Given the description of an element on the screen output the (x, y) to click on. 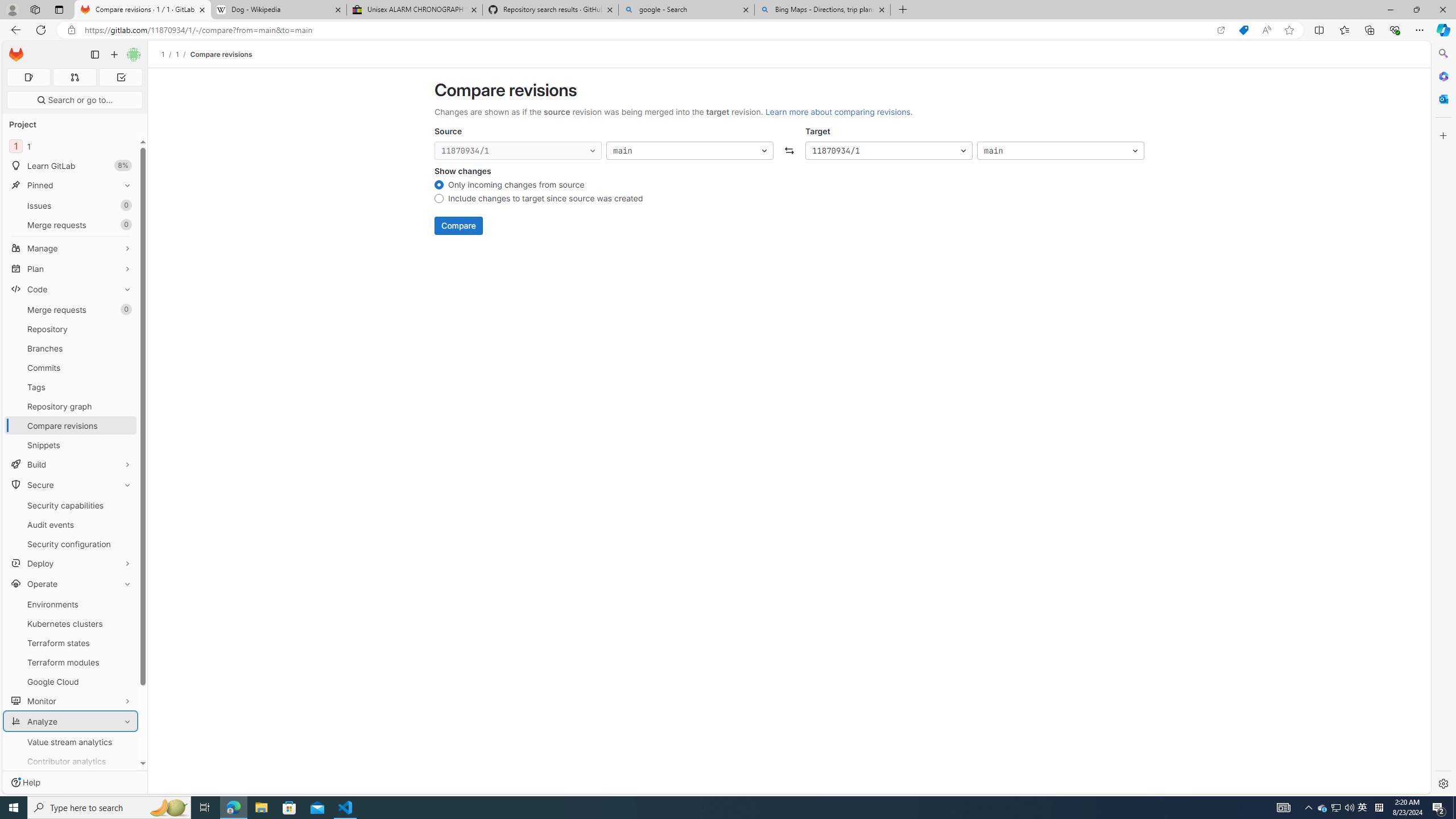
Analyze (70, 720)
Manage (70, 248)
Pin Contributor analytics (124, 761)
Deploy (70, 562)
Audit events (70, 524)
Pin Kubernetes clusters (124, 623)
Open in app (1220, 29)
11870934/1 (888, 150)
Primary navigation sidebar (94, 54)
Compare (458, 226)
Only incoming changes from source (438, 186)
Pin Security configuration (124, 544)
Merge requests 0 (74, 76)
